Given the description of an element on the screen output the (x, y) to click on. 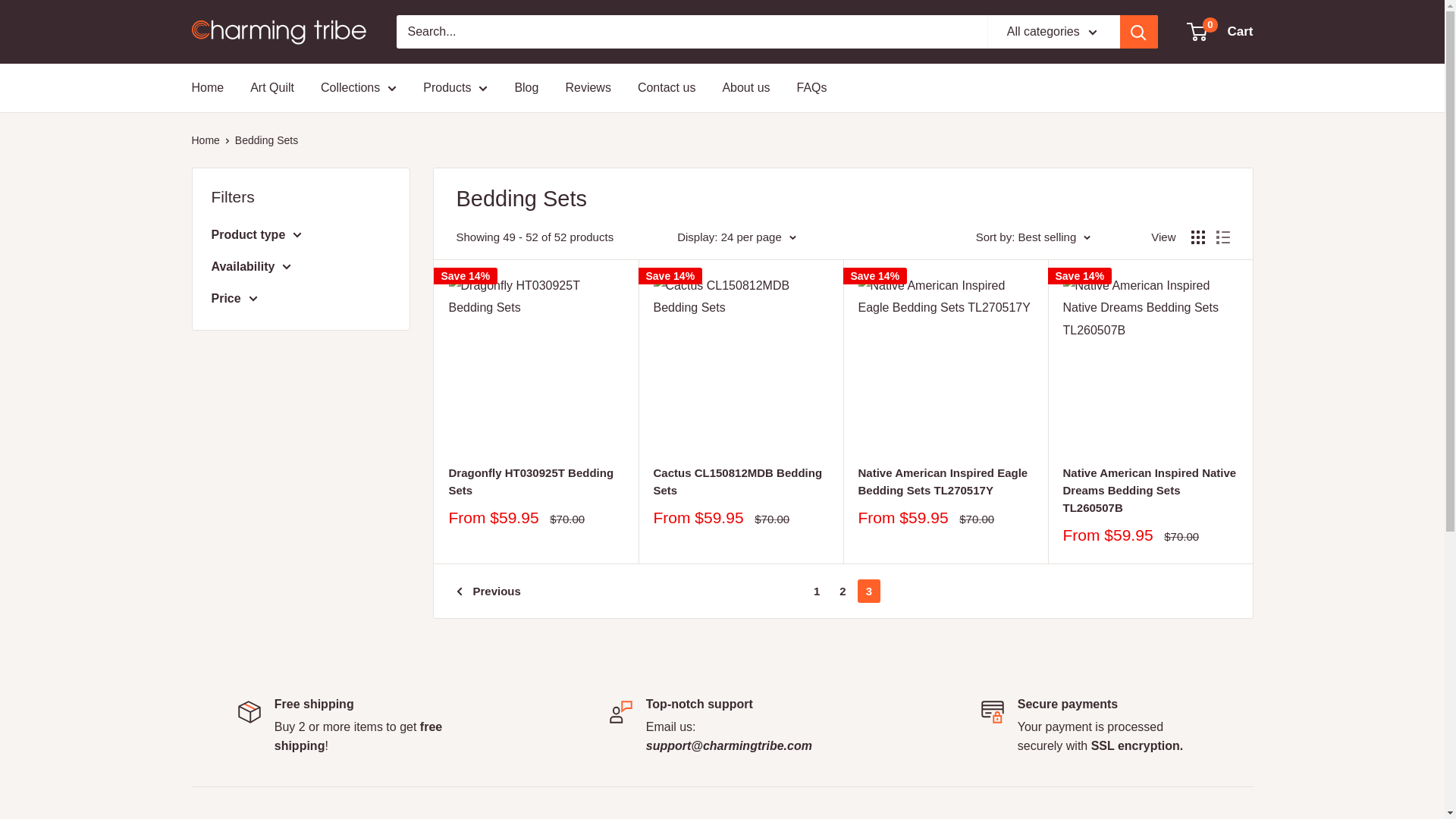
Navigate to page 1 (816, 590)
Navigate to page 2 (842, 590)
Previous (489, 590)
